Given the description of an element on the screen output the (x, y) to click on. 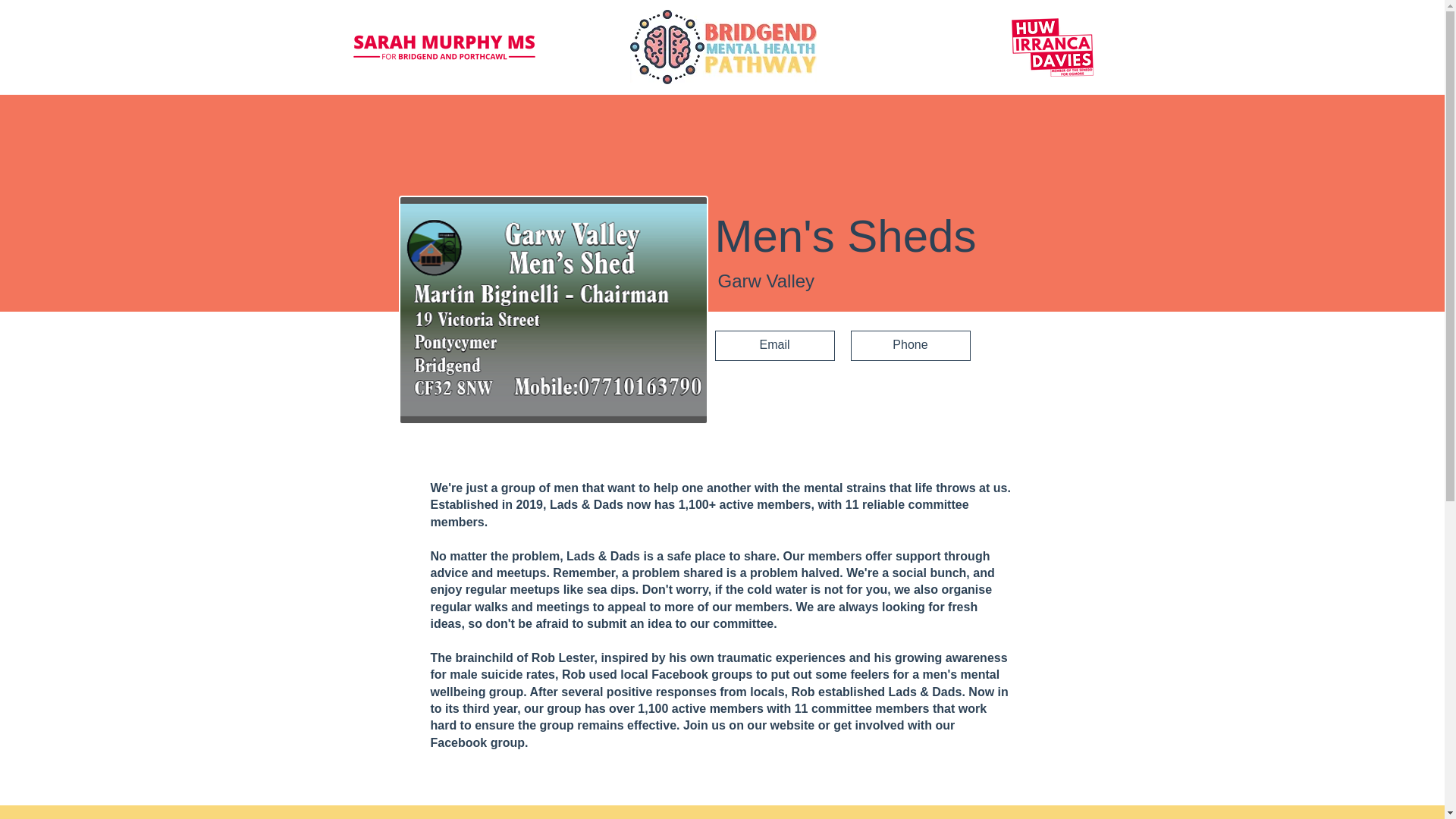
Phone (910, 345)
Email (774, 345)
